Given the description of an element on the screen output the (x, y) to click on. 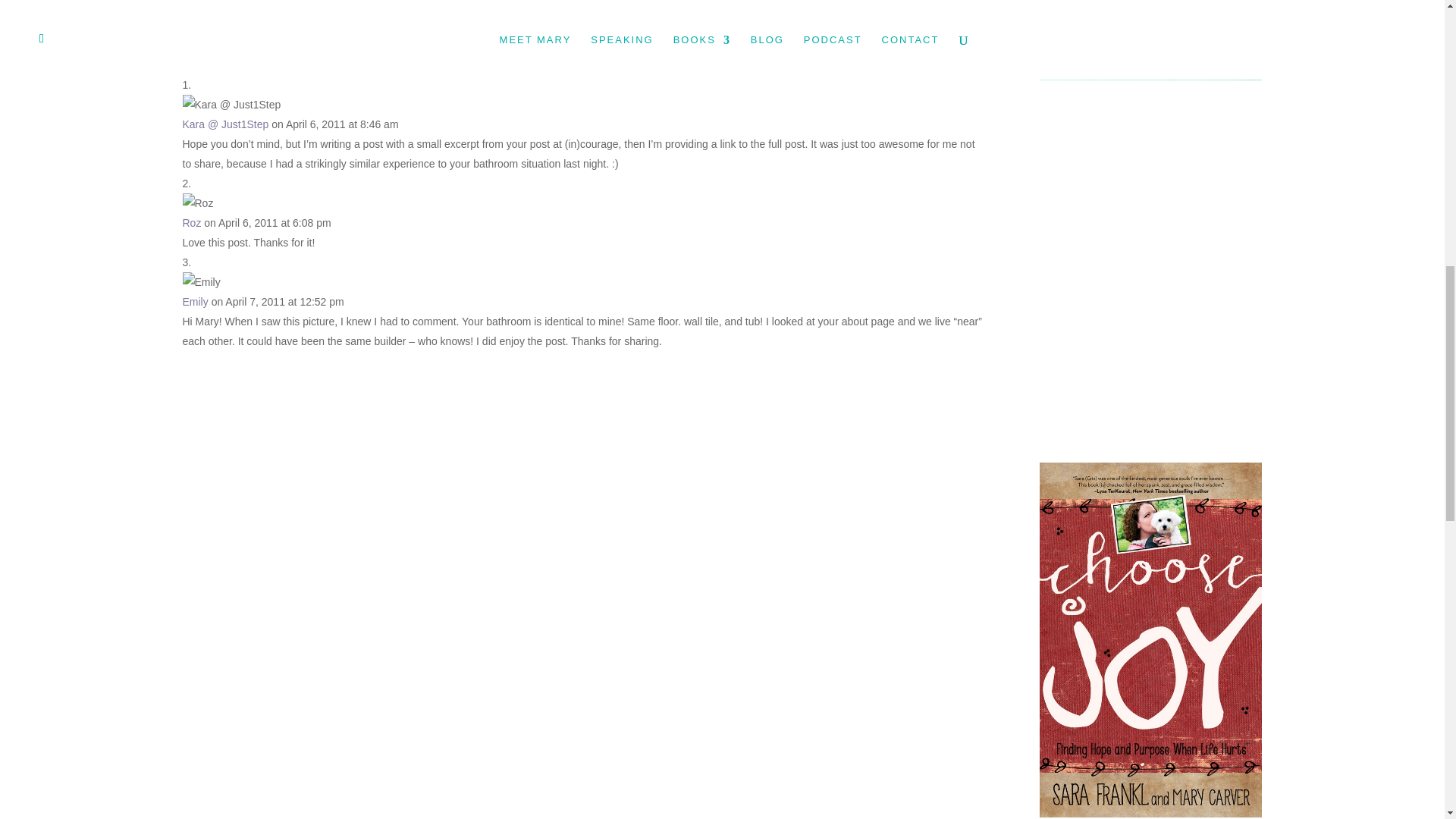
Emily (195, 301)
Roz (191, 223)
